Given the description of an element on the screen output the (x, y) to click on. 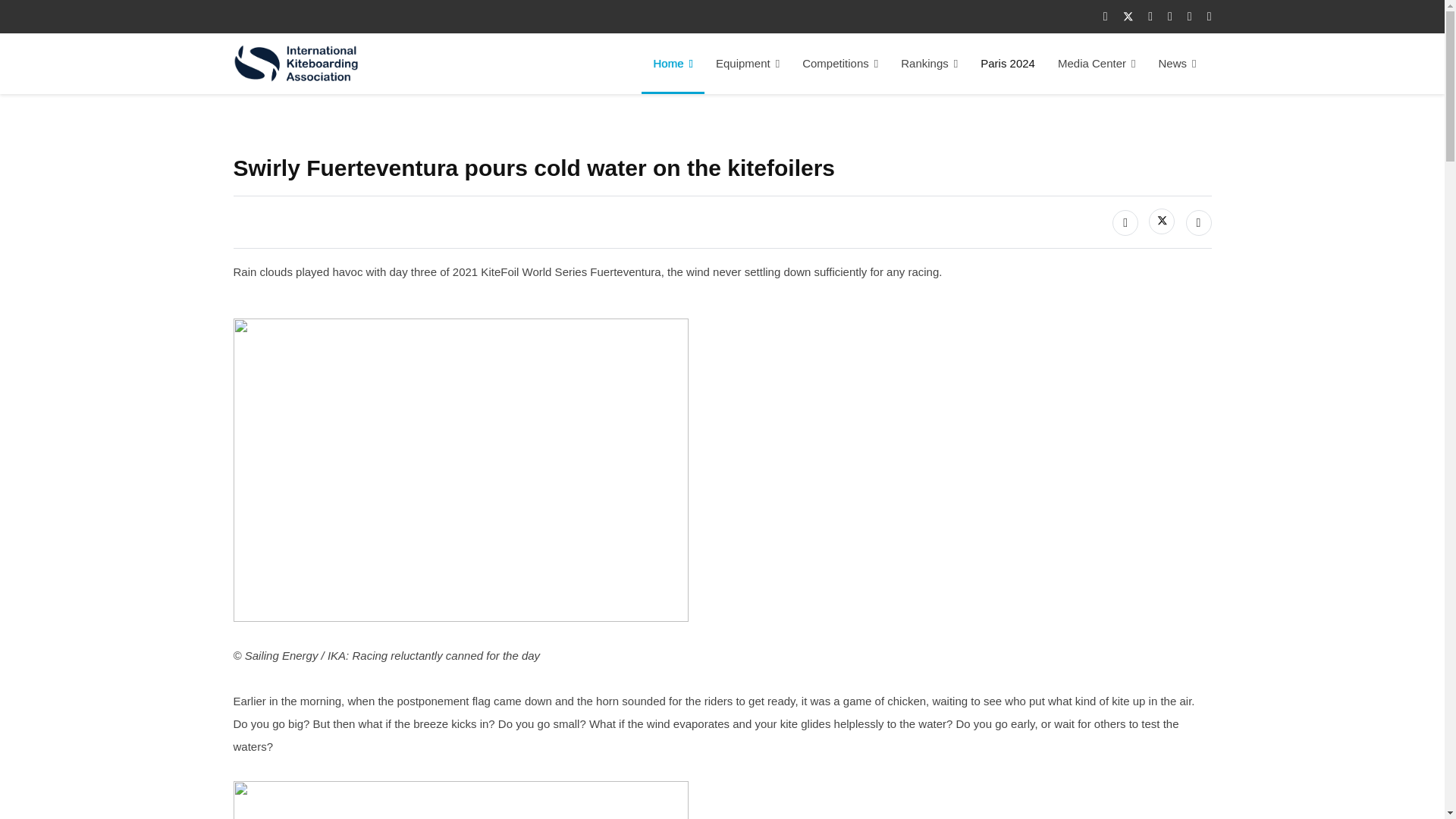
Facebook (1125, 222)
LinkedIn (1198, 222)
Home (673, 63)
